Given the description of an element on the screen output the (x, y) to click on. 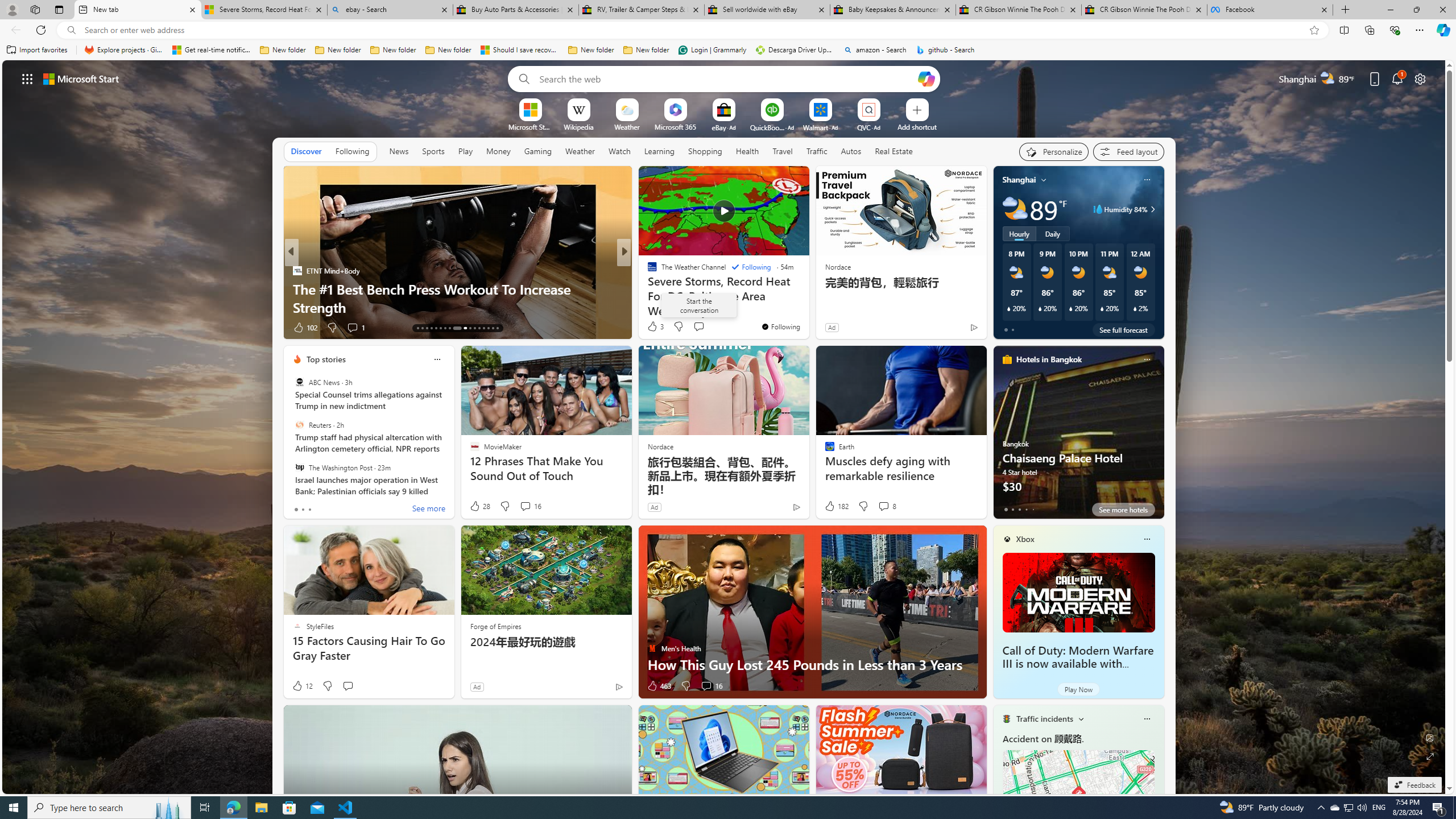
View comments 167 Comment (709, 327)
ETNT Mind+Body (296, 270)
Humidity 84% (1150, 208)
116 Like (654, 327)
